Given the description of an element on the screen output the (x, y) to click on. 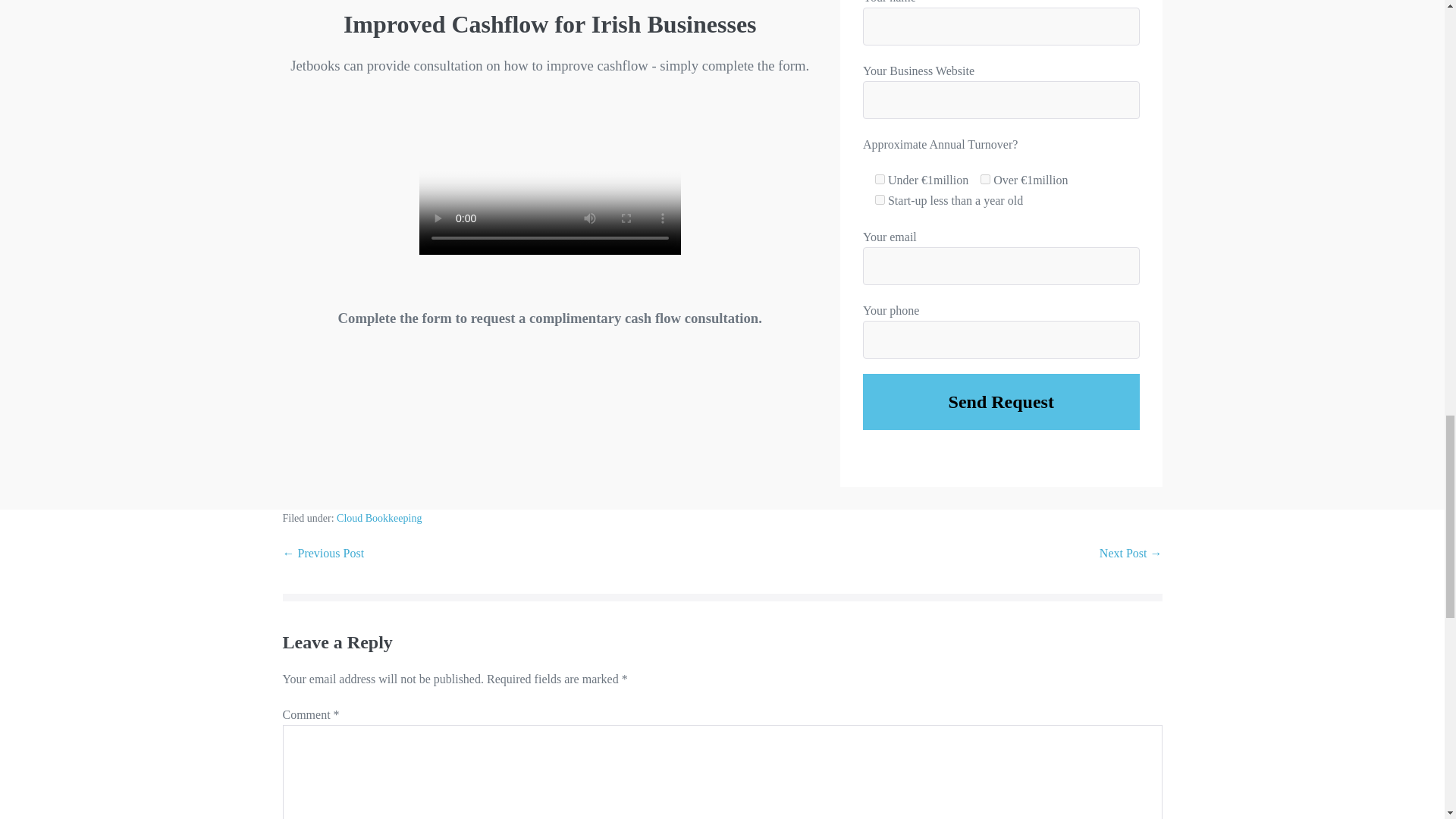
Send Request (1001, 401)
Send Request (1001, 401)
Start-up less than a year old (880, 199)
Cloud Bookkeeping (379, 518)
